Given the description of an element on the screen output the (x, y) to click on. 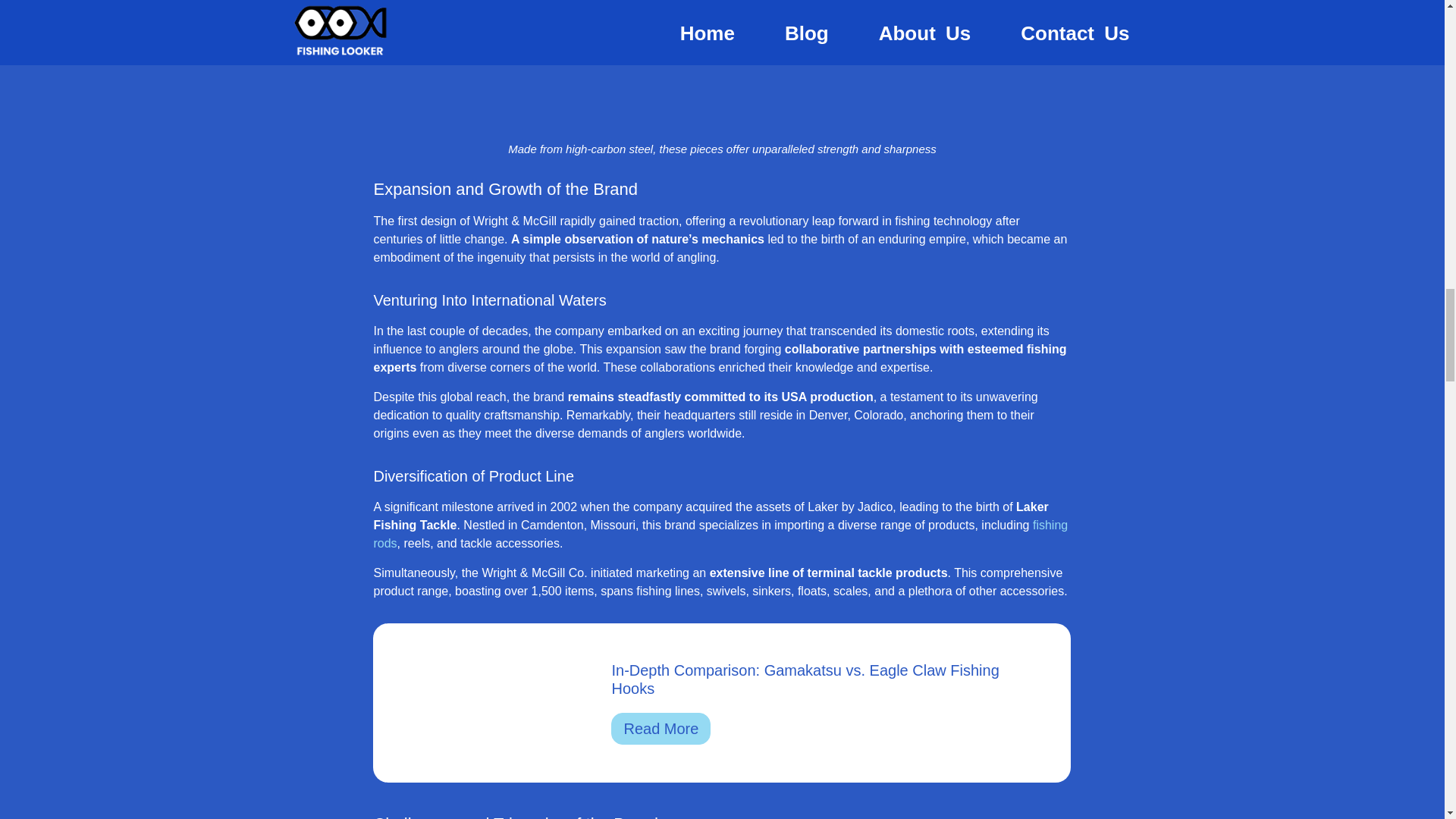
In-Depth Comparison: Gamakatsu vs. Eagle Claw Fishing Hooks (804, 678)
Read More (660, 728)
fishing rods (719, 533)
